Given the description of an element on the screen output the (x, y) to click on. 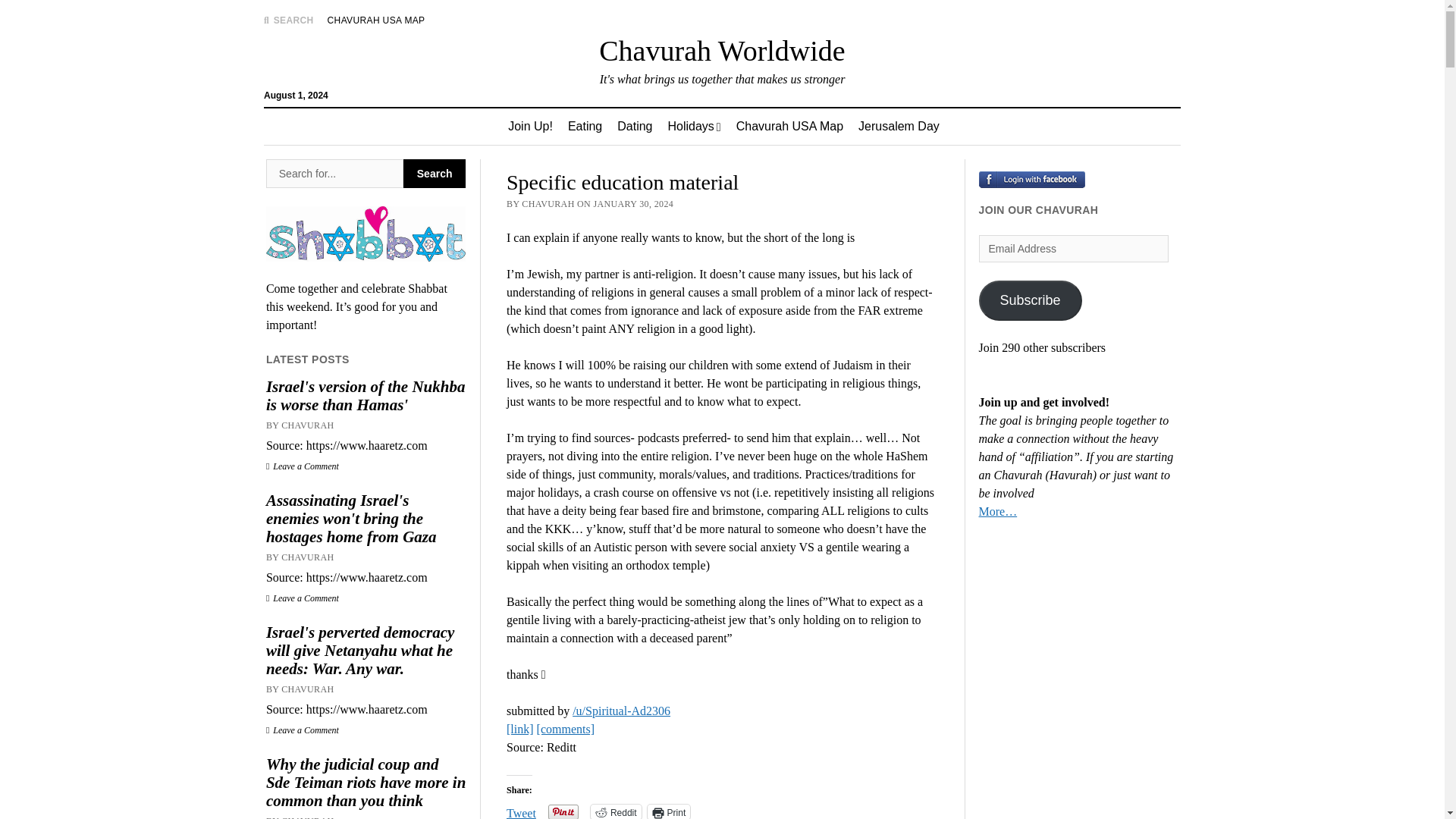
Search (434, 173)
Eating (585, 126)
Join Up! (530, 126)
Search (334, 173)
Holidays (693, 126)
Jerusalem Day (898, 126)
Chavurah Worldwide (721, 50)
Leave a Comment (302, 729)
Search (434, 173)
